Given the description of an element on the screen output the (x, y) to click on. 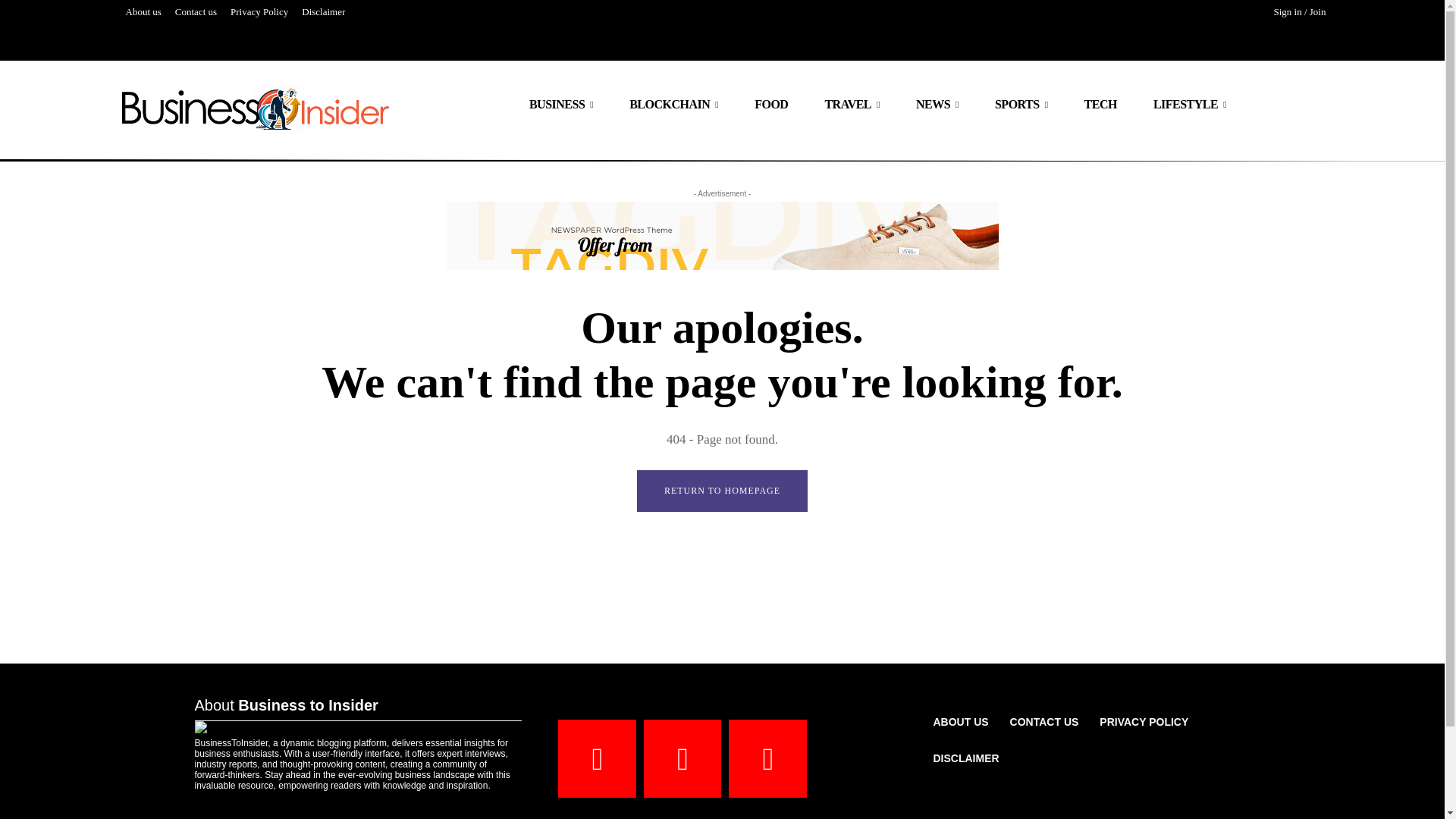
Return to Homepage (722, 490)
BLOCKCHAIN (673, 104)
Privacy Policy (259, 12)
TRAVEL (852, 104)
Disclaimer (323, 12)
Instagram (682, 758)
Contact us (196, 12)
BUSINESS (561, 104)
FOOD (771, 104)
Facebook (596, 758)
